Given the description of an element on the screen output the (x, y) to click on. 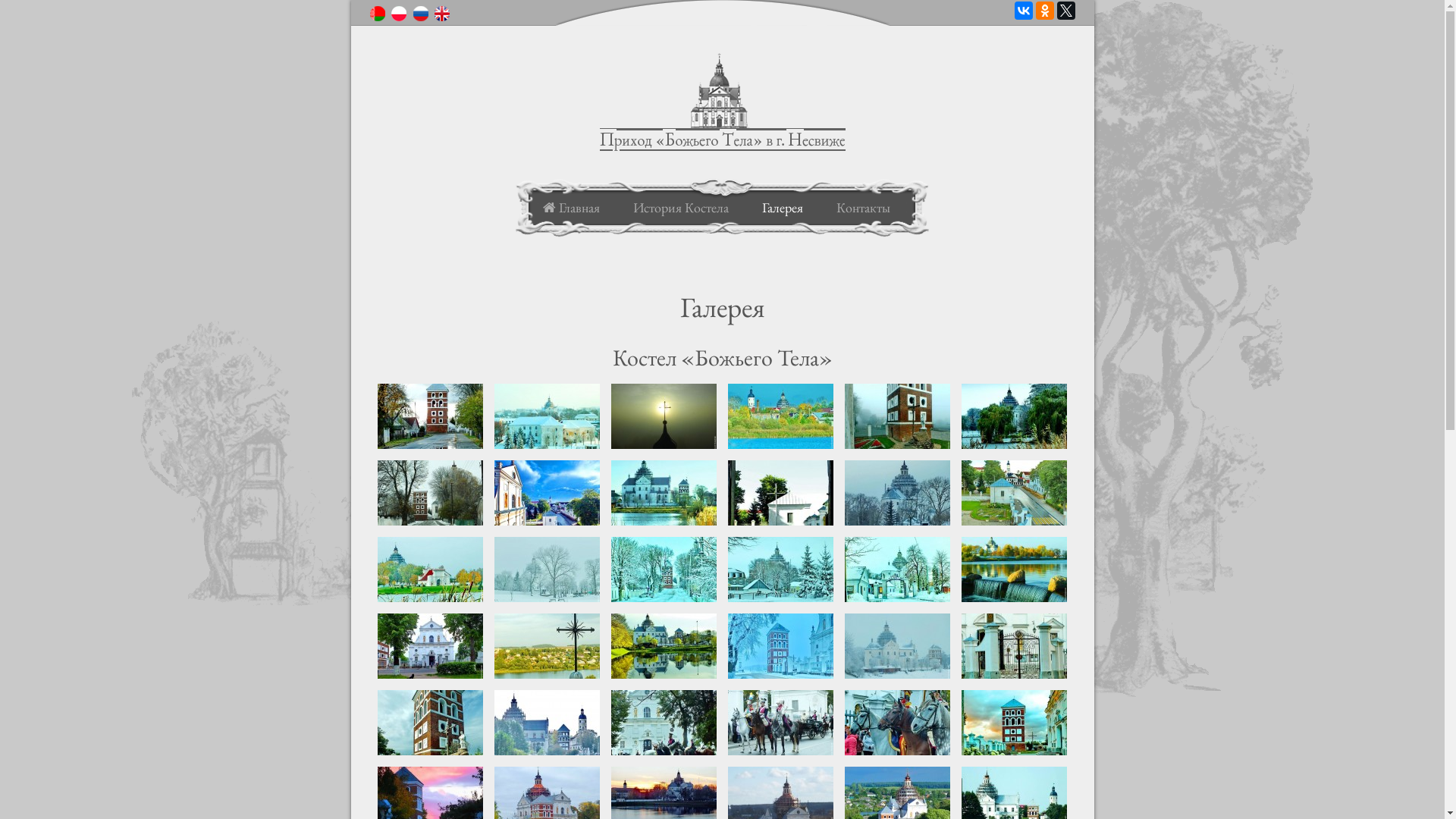
Twitter Element type: hover (1066, 10)
English (UK) Element type: hover (441, 13)
Polski (PL) Element type: hover (398, 13)
